Given the description of an element on the screen output the (x, y) to click on. 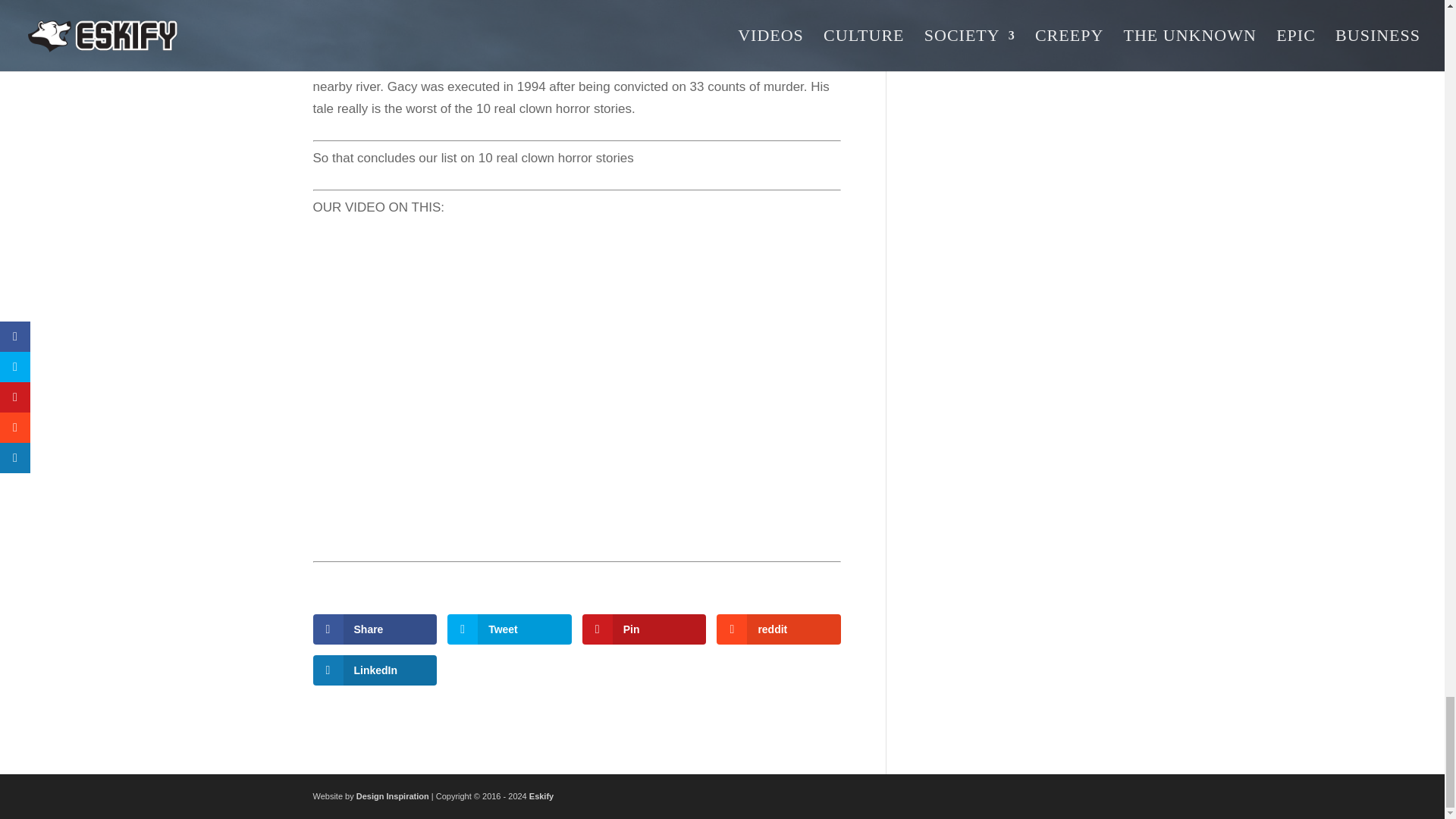
Tweet (509, 629)
Share (374, 629)
